Given the description of an element on the screen output the (x, y) to click on. 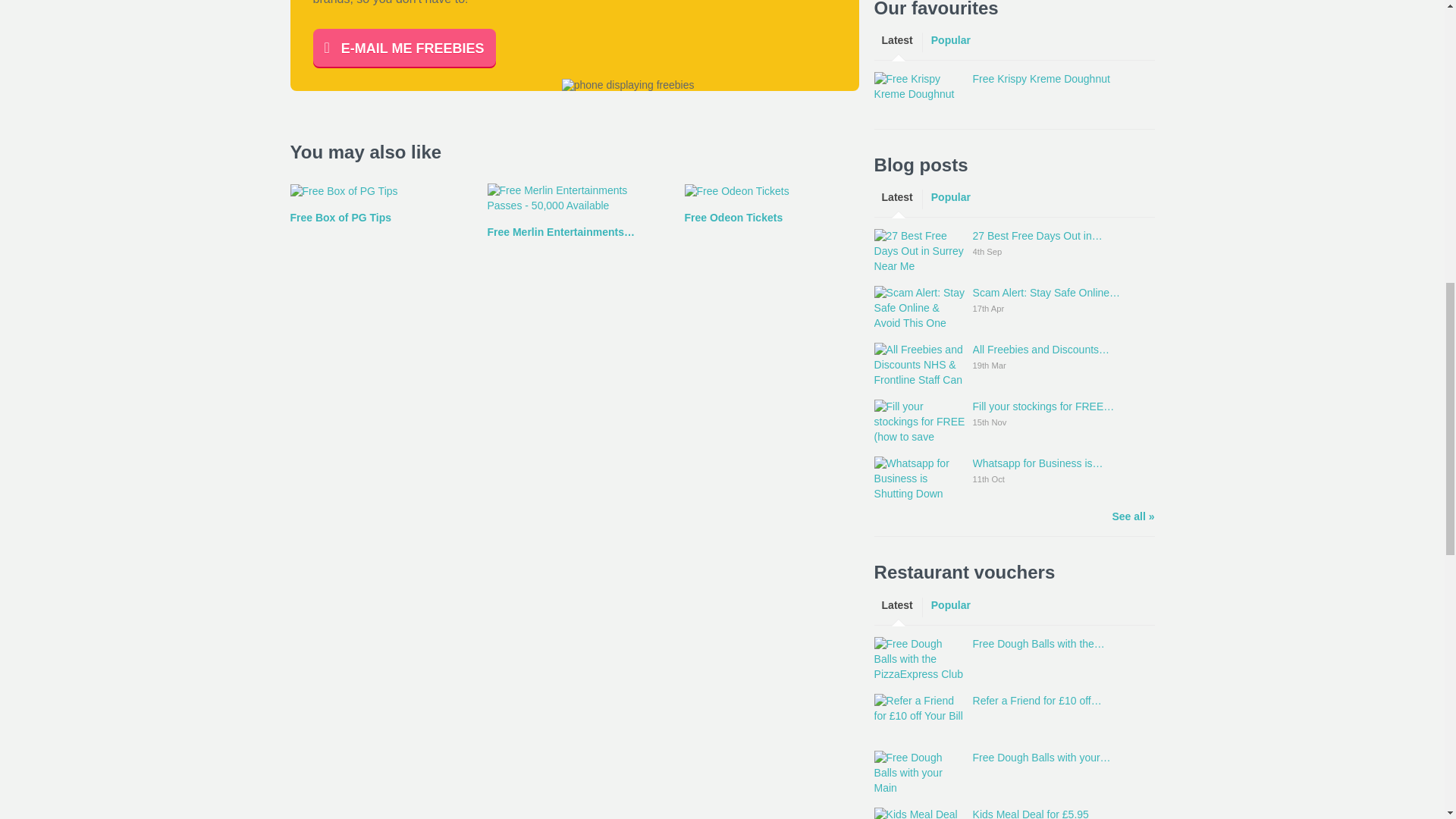
See allblog posts (1133, 516)
Blog posts (921, 164)
 Restaurant vouchers (965, 571)
